Given the description of an element on the screen output the (x, y) to click on. 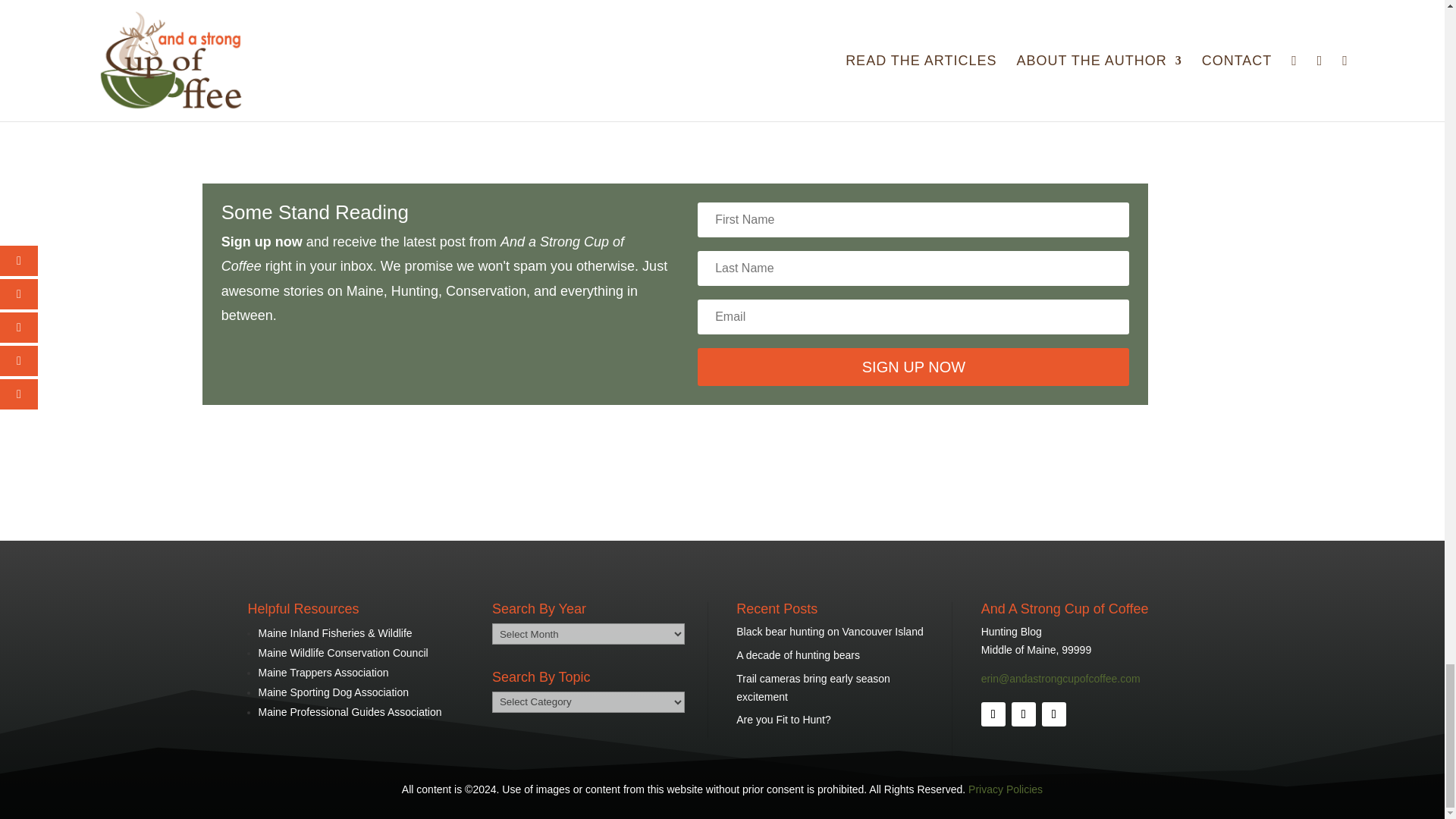
Follow on Instagram (1053, 713)
Follow on X (1023, 713)
Follow on Facebook (993, 713)
